Given the description of an element on the screen output the (x, y) to click on. 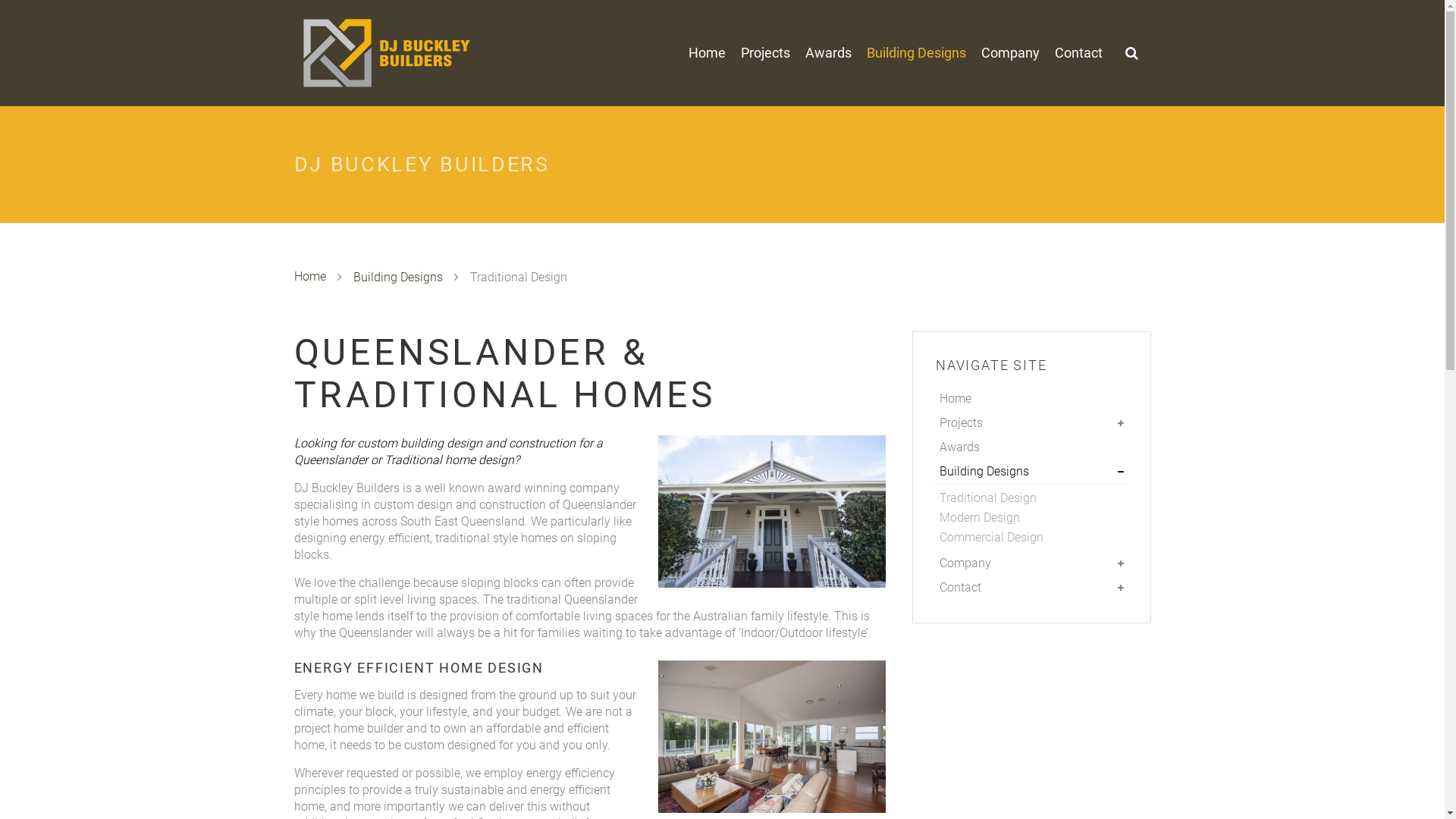
Traditional Design Element type: text (1033, 498)
Building Designs Element type: text (1031, 471)
Building Designs Element type: text (397, 277)
Building Designs Element type: text (915, 53)
Projects Element type: text (1031, 423)
Commercial Design Element type: text (1033, 537)
Awards Element type: text (1031, 447)
Awards Element type: text (828, 53)
Contact Element type: text (1031, 587)
Company Element type: text (1031, 563)
Projects Element type: text (764, 53)
Contact Element type: text (1077, 53)
Home Element type: text (310, 276)
Company Element type: text (1010, 53)
Home Element type: text (1031, 398)
Modern Design Element type: text (1033, 517)
Home Element type: text (706, 53)
